Given the description of an element on the screen output the (x, y) to click on. 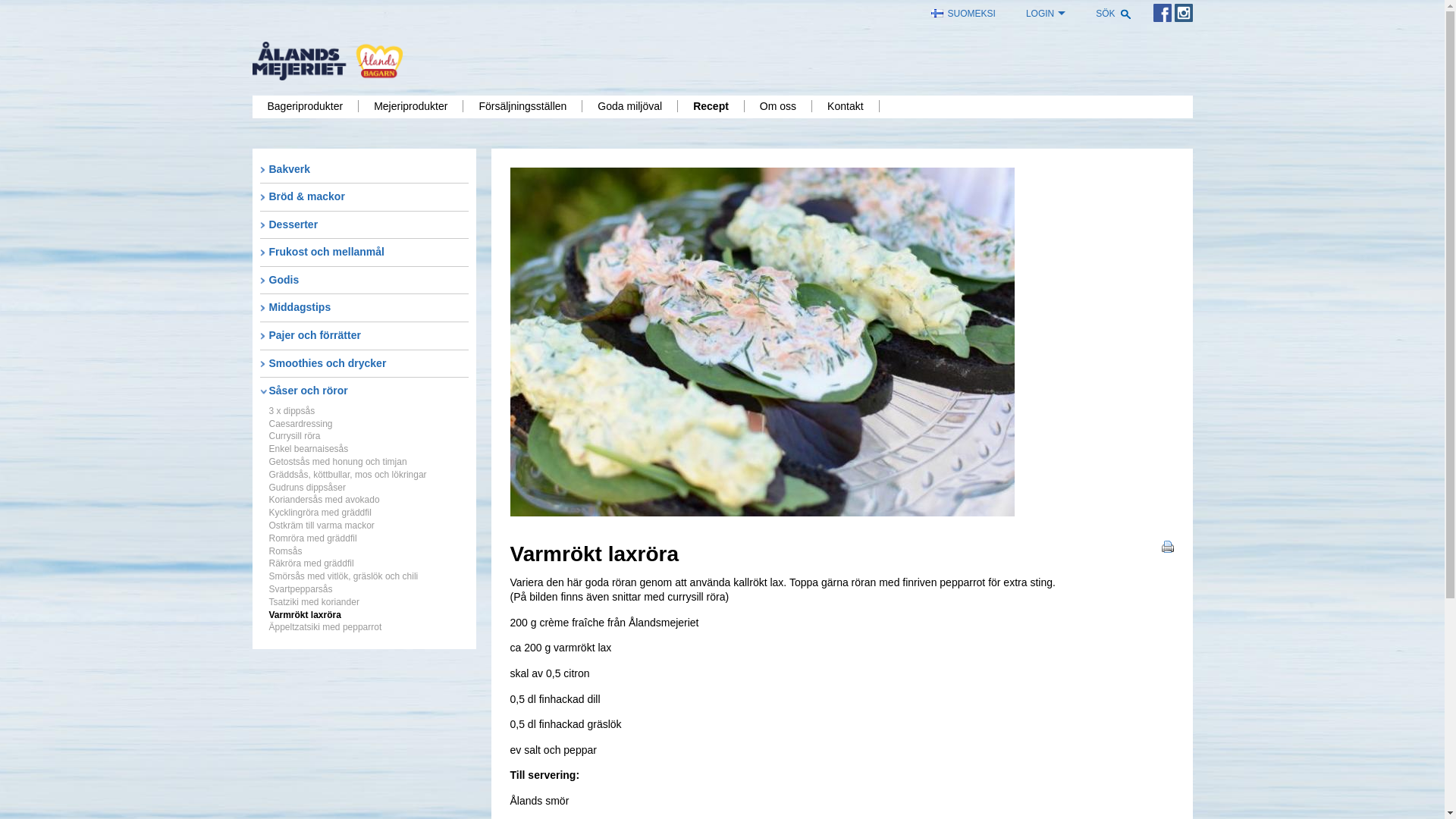
Caesardressing Element type: text (300, 423)
Mejeriprodukter Element type: text (410, 106)
Om oss Element type: text (778, 106)
Recept Element type: text (710, 106)
SUOMEKSI Element type: text (967, 13)
Kontakt Element type: text (845, 106)
Tsatziki med koriander Element type: text (313, 601)
LOGIN Element type: text (1045, 13)
Bageriprodukter Element type: text (304, 106)
Hemsida Element type: hover (327, 60)
